Given the description of an element on the screen output the (x, y) to click on. 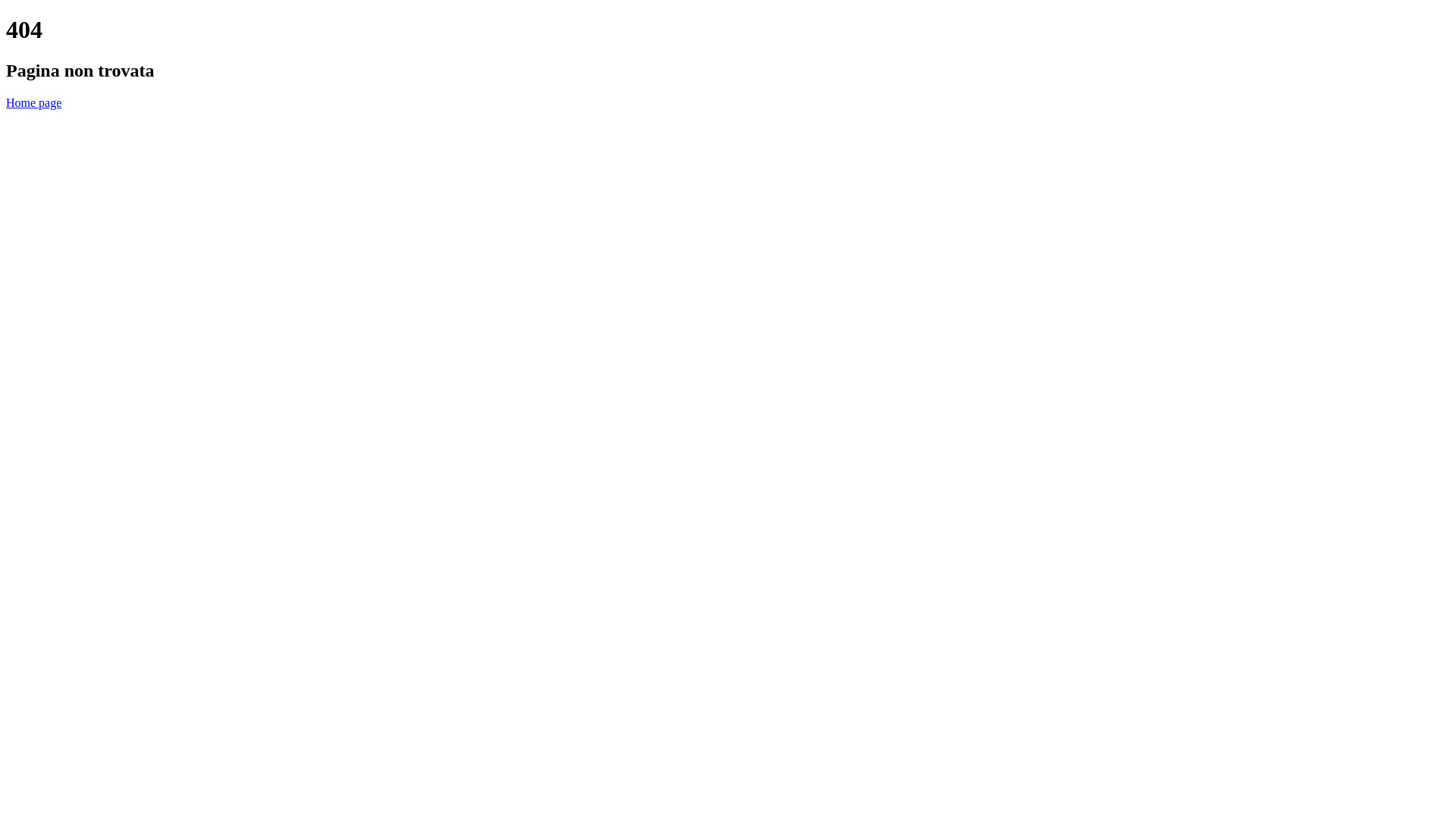
Home page Element type: text (33, 102)
